Given the description of an element on the screen output the (x, y) to click on. 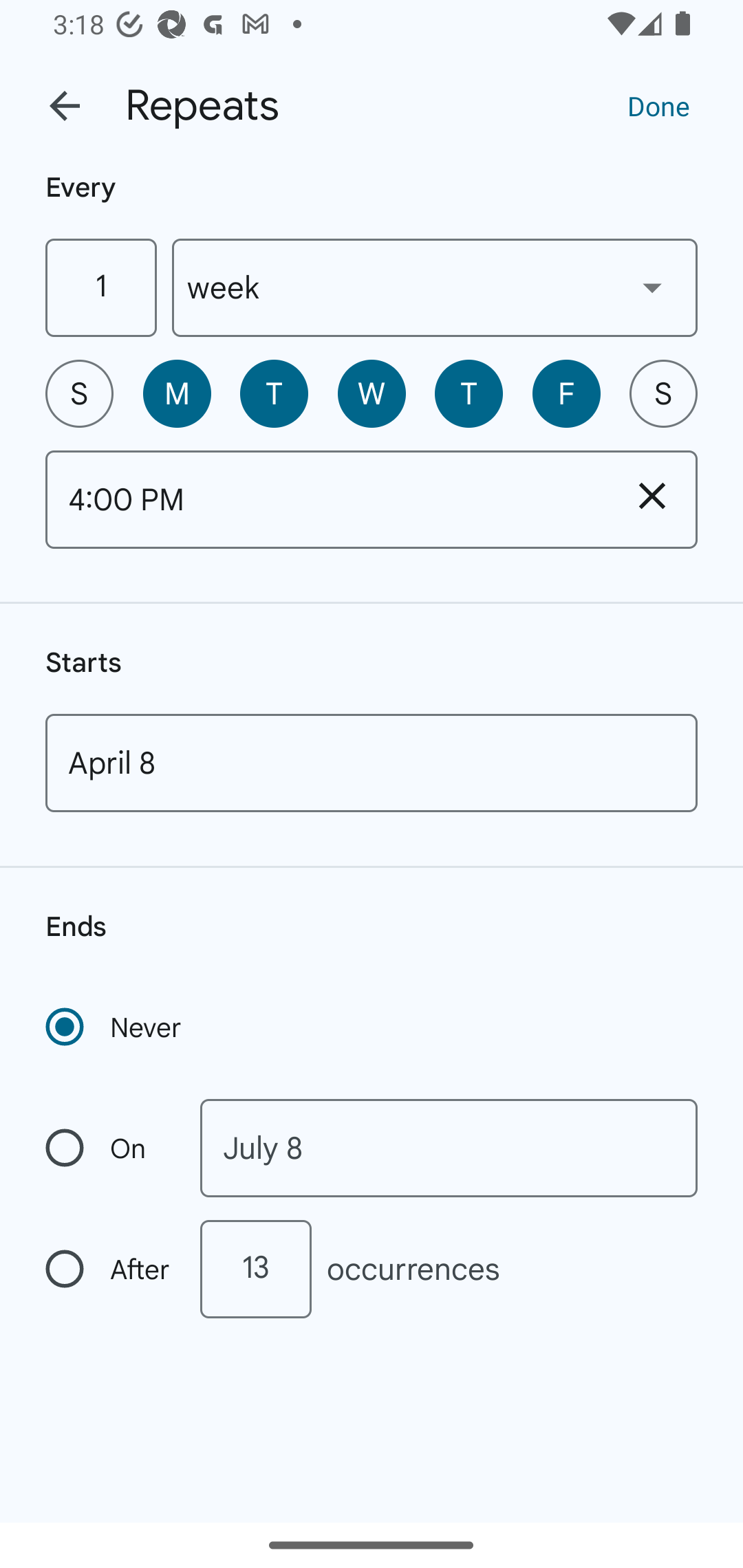
Back (64, 105)
Done (658, 105)
1 (100, 287)
week (434, 287)
Show dropdown menu (652, 286)
S Sunday (79, 393)
M Monday, selected (177, 393)
T Tuesday, selected (273, 393)
W Wednesday, selected (371, 393)
T Thursday, selected (468, 393)
F Friday, selected (566, 393)
S Saturday (663, 393)
4:00 PM (326, 499)
Remove 4:00 PM (652, 495)
April 8 (371, 762)
Never Recurrence never ends (115, 1026)
July 8 (448, 1148)
On Recurrence ends on a specific date (109, 1148)
13 (255, 1268)
